Given the description of an element on the screen output the (x, y) to click on. 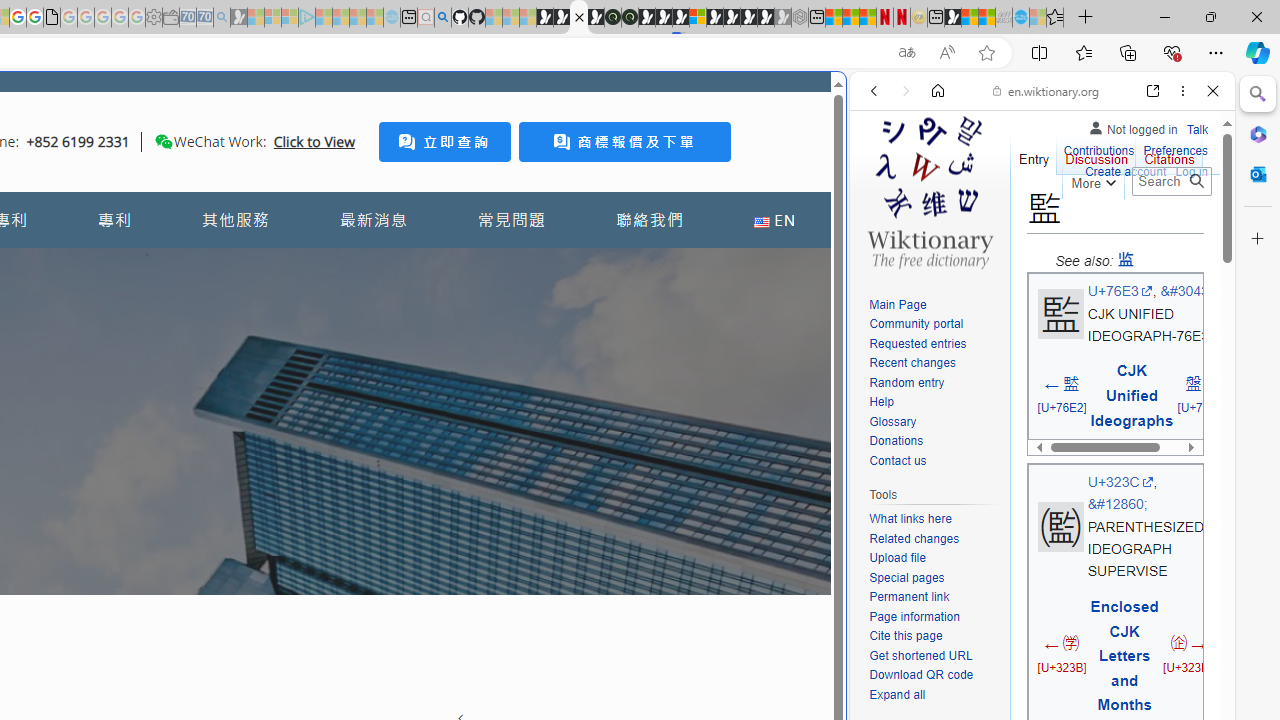
Special pages (906, 577)
Contact us (934, 461)
Future Focus Report 2024 (629, 17)
Citations (1169, 154)
Get shortened URL (920, 655)
Settings - Sleeping (153, 17)
Expand all (934, 695)
